Given the description of an element on the screen output the (x, y) to click on. 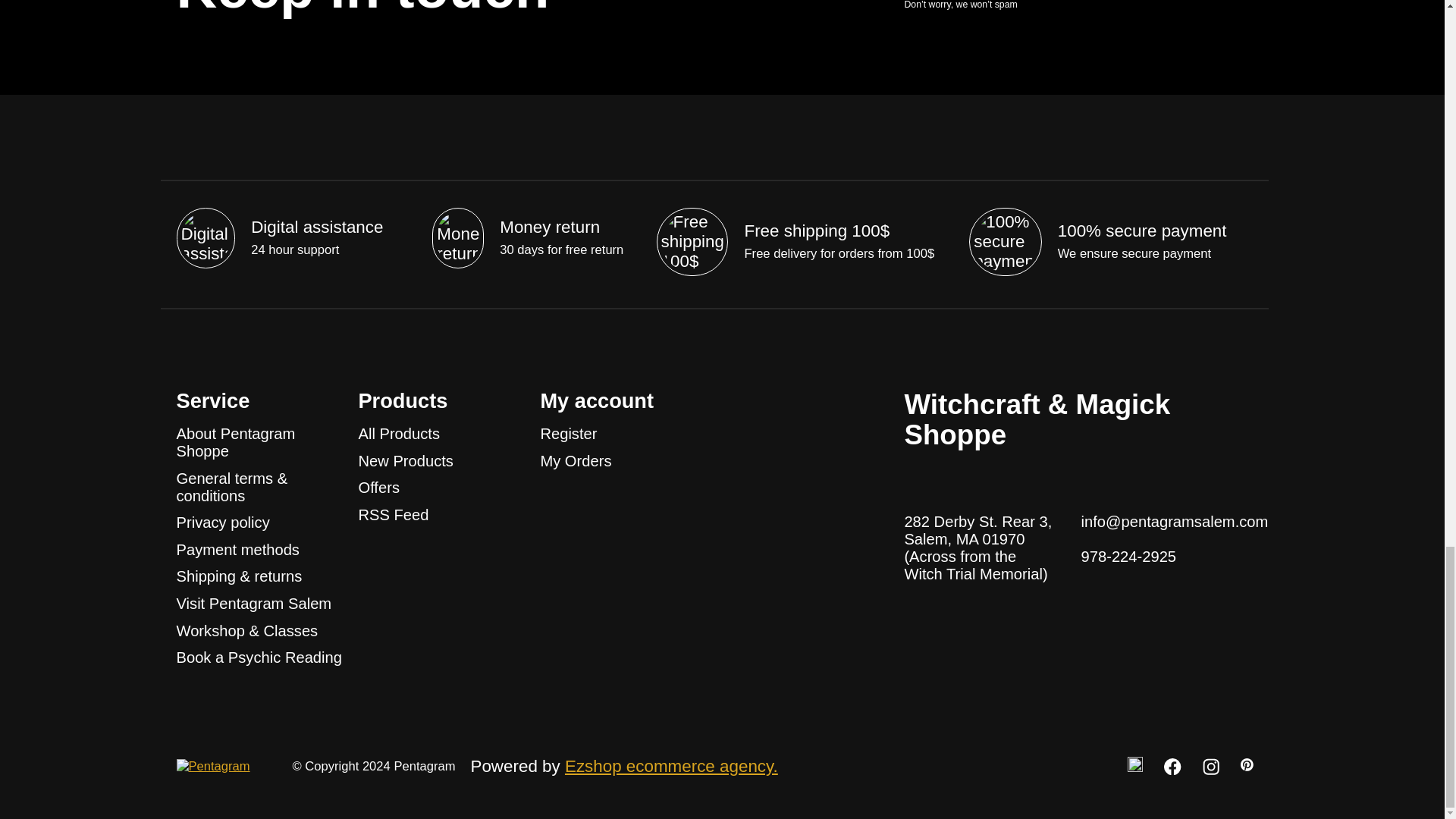
My Orders (575, 460)
Payment methods (237, 549)
Offers (378, 487)
New Products (405, 460)
Book a Psychic Reading (258, 657)
About Pentagram Shoppe (235, 442)
Privacy policy (222, 522)
Register (568, 433)
All Products (398, 433)
Visit Pentagram Salem (253, 603)
RSS Feed (393, 514)
